Given the description of an element on the screen output the (x, y) to click on. 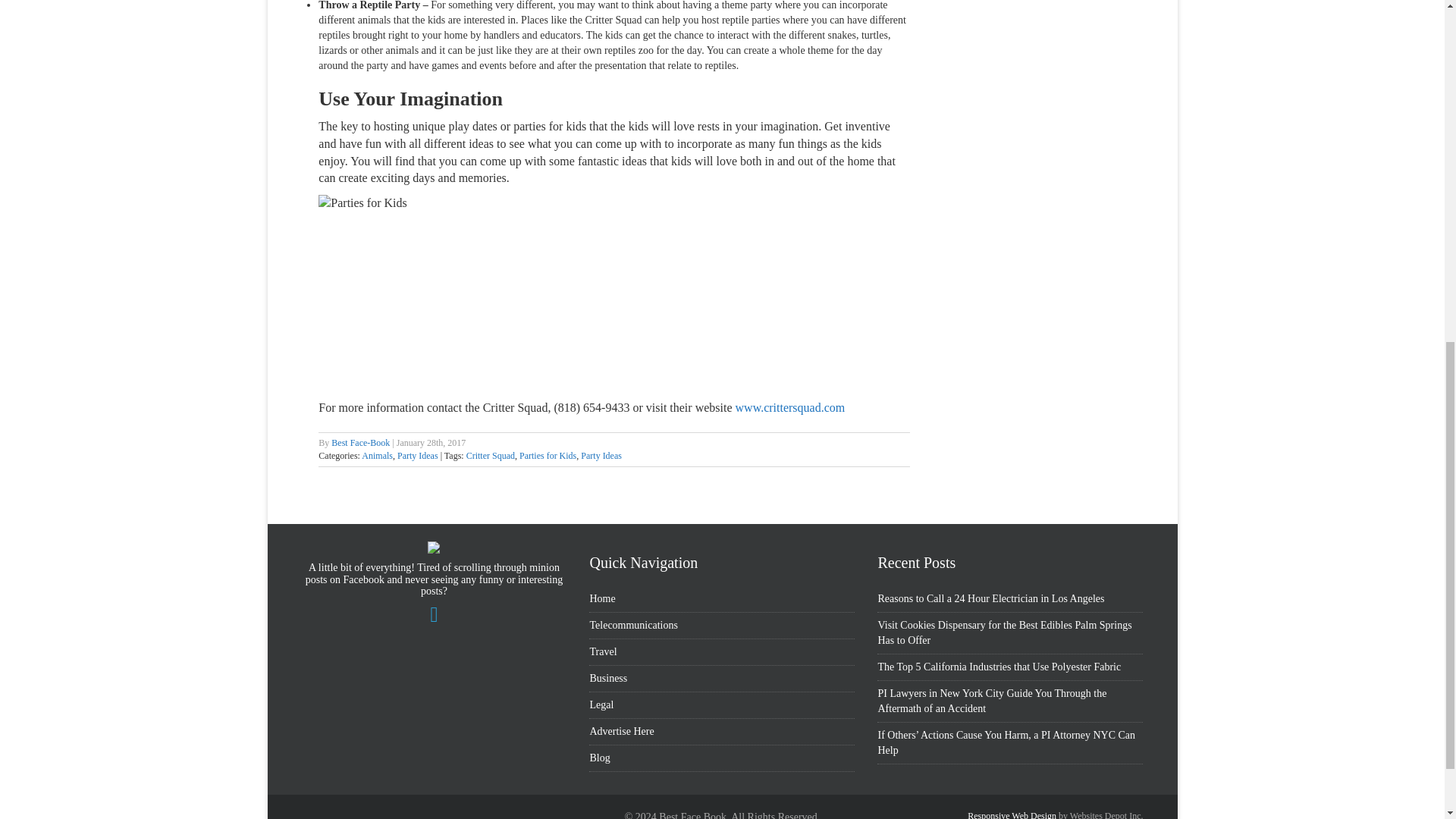
The Top 5 California Industries that Use Polyester Fabric (999, 666)
Best Face-Book (360, 442)
Parties for Kids (547, 455)
Party Ideas (600, 455)
Critter Squad (490, 455)
www.crittersquad.com (790, 407)
Animals (377, 455)
Best Face-Book (360, 442)
Blog (599, 757)
Telecommunications (633, 624)
